Given the description of an element on the screen output the (x, y) to click on. 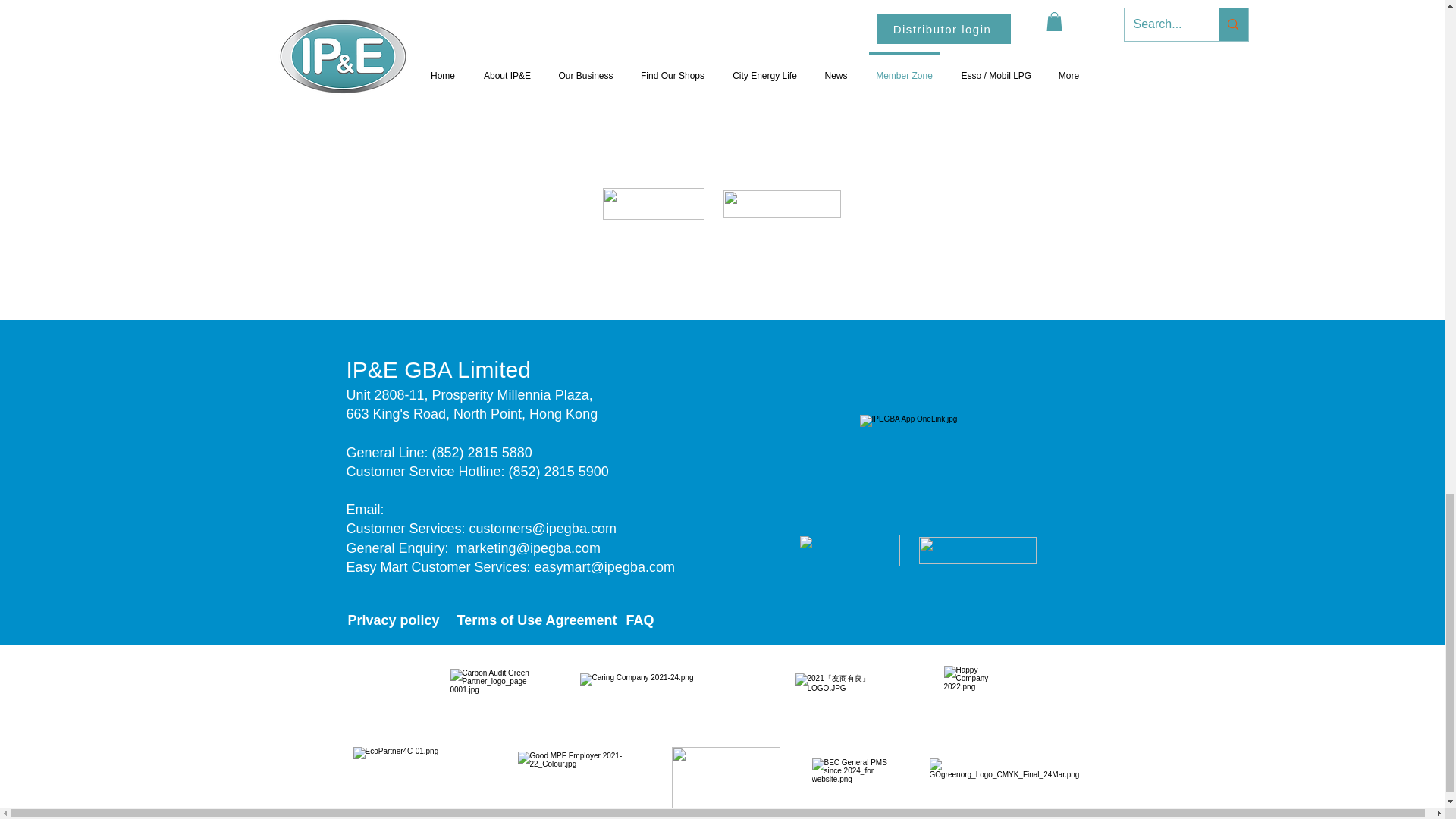
Terms of Use Agreement (536, 620)
Privacy policy (393, 620)
